Given the description of an element on the screen output the (x, y) to click on. 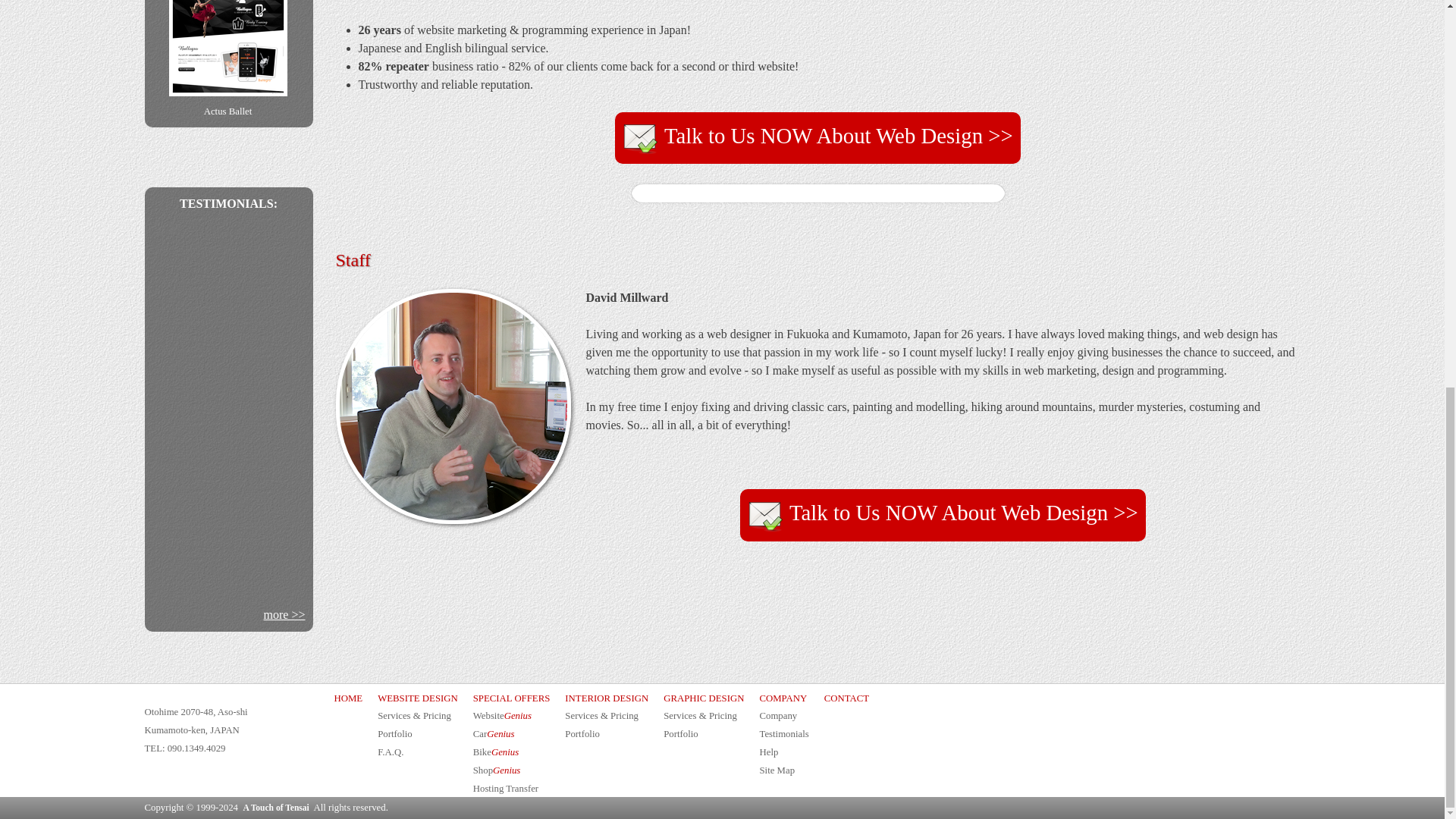
Actus Ballet Website (227, 48)
